Given the description of an element on the screen output the (x, y) to click on. 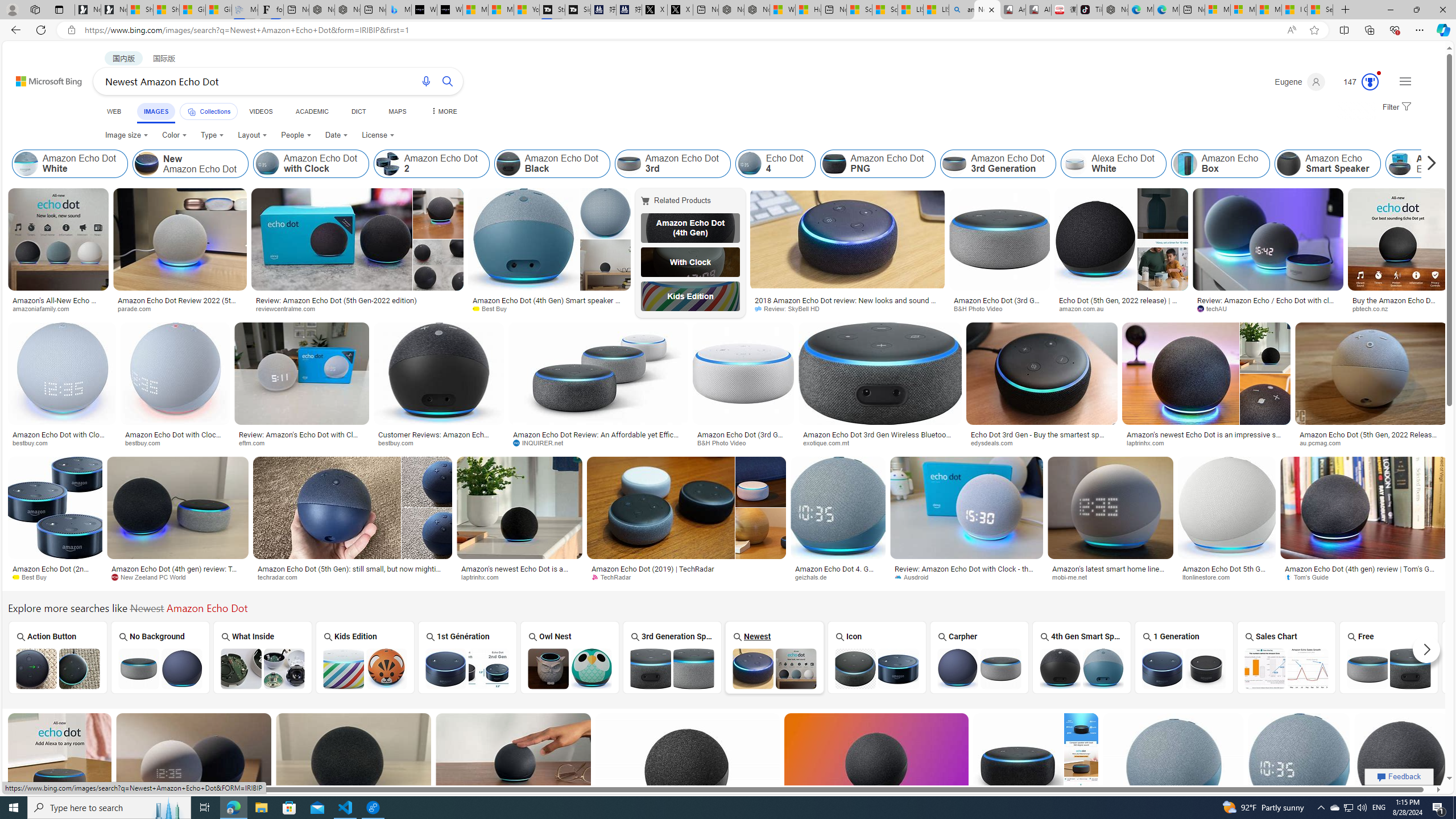
License (377, 135)
INQUIRER.net (542, 442)
No Background (160, 656)
amazoniafamily.com (45, 308)
Best Buy (55, 576)
Date (336, 135)
Owl Nest (569, 656)
